Given the description of an element on the screen output the (x, y) to click on. 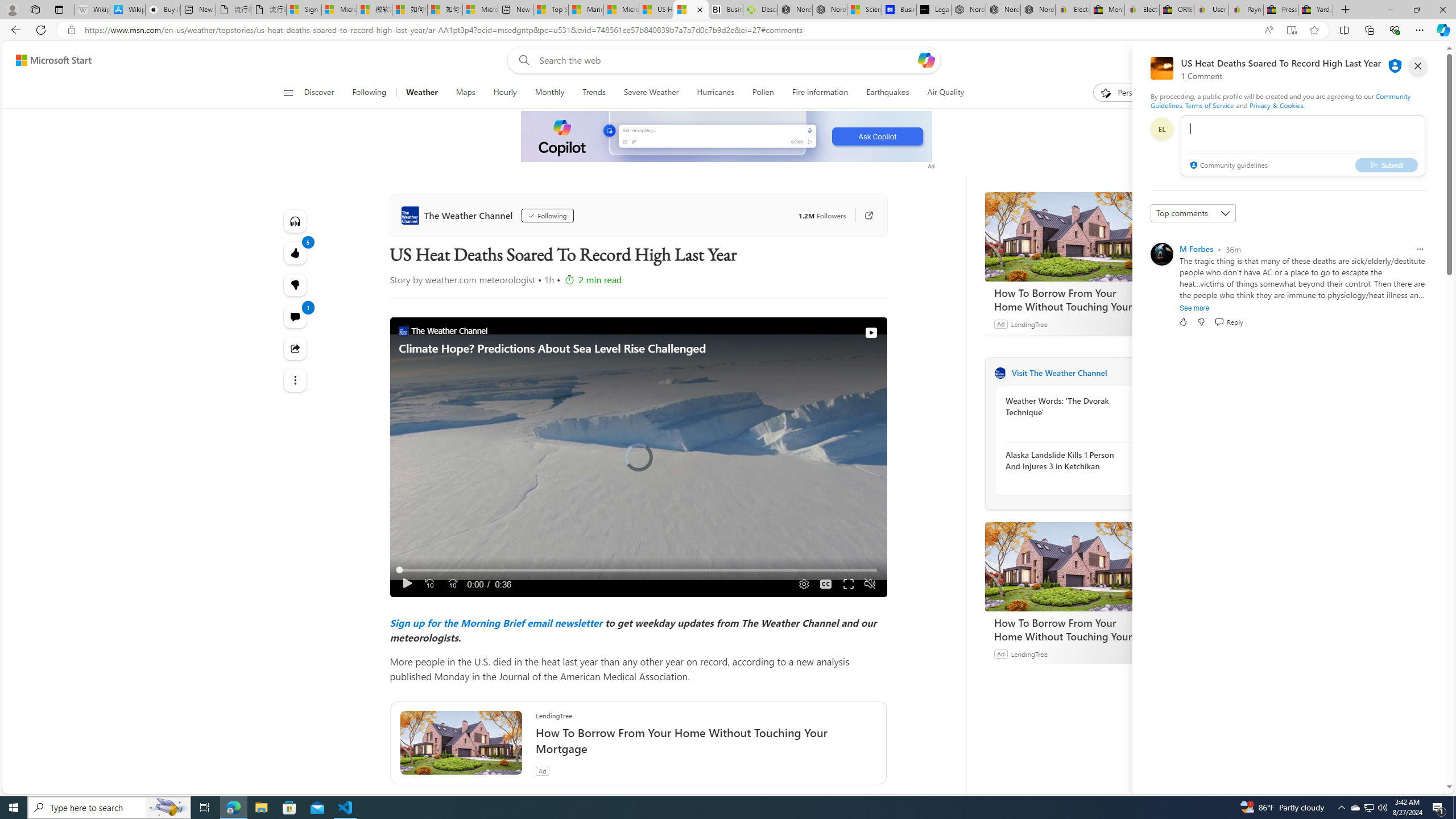
Fullscreen (848, 583)
Split screen (1344, 29)
Microsoft Start (620, 9)
How To Borrow From Your Home Without Touching Your Mortgage (1070, 566)
Submit (1386, 164)
Following (368, 92)
Open Copilot (925, 59)
To get missing image descriptions, open the context menu. (726, 136)
Pollen (763, 92)
Microsoft Start (53, 60)
Hurricanes (715, 92)
Sign up for the Morning Brief email newsletter (496, 621)
Notifications (1397, 60)
